Given the description of an element on the screen output the (x, y) to click on. 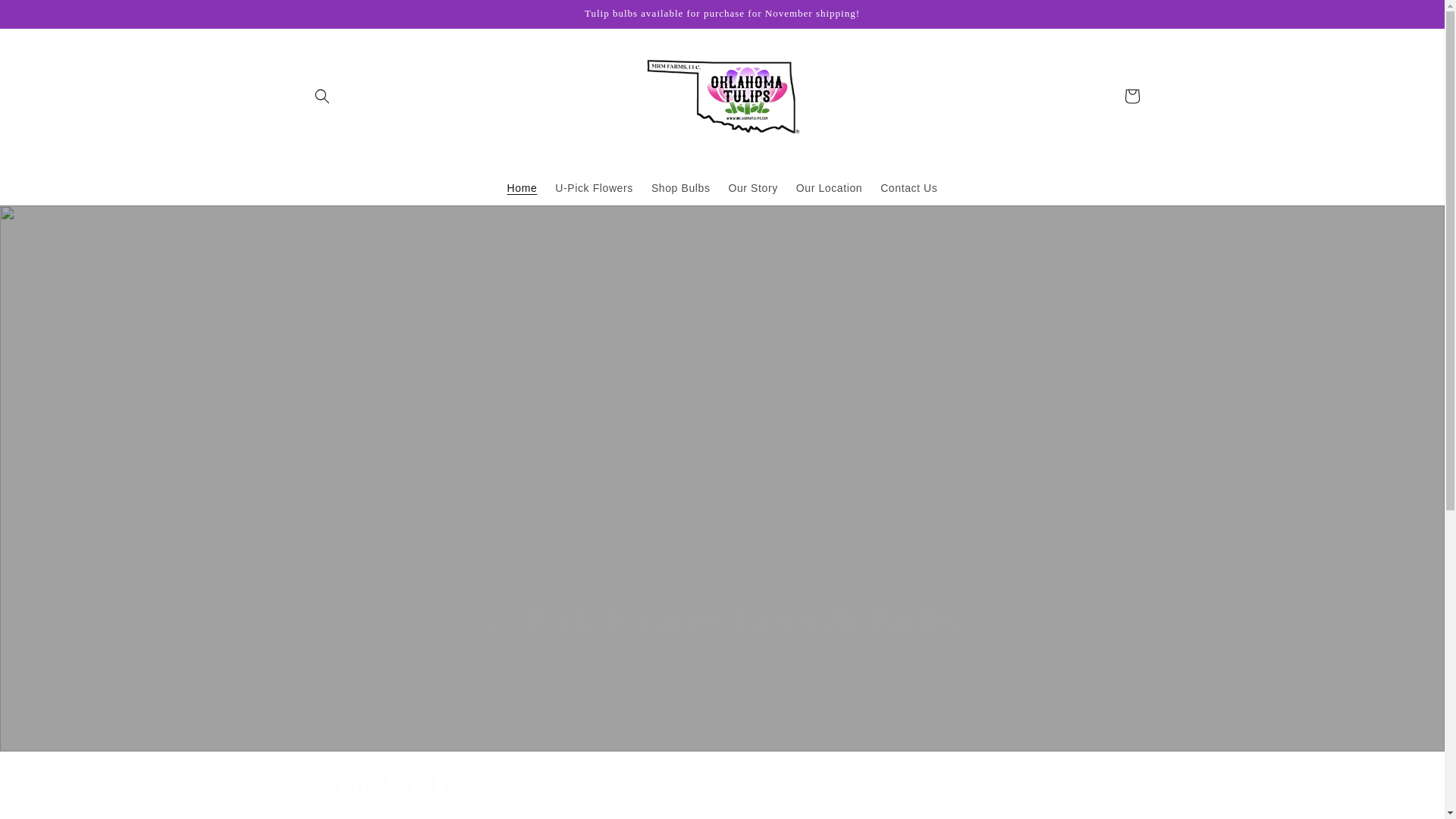
Home (522, 187)
U-Pick Flowers (594, 187)
Our Story (752, 187)
Cart (1131, 96)
Skip to content (45, 17)
Contact Us (908, 187)
Our Location (828, 187)
Shop Bulbs (680, 187)
